Given the description of an element on the screen output the (x, y) to click on. 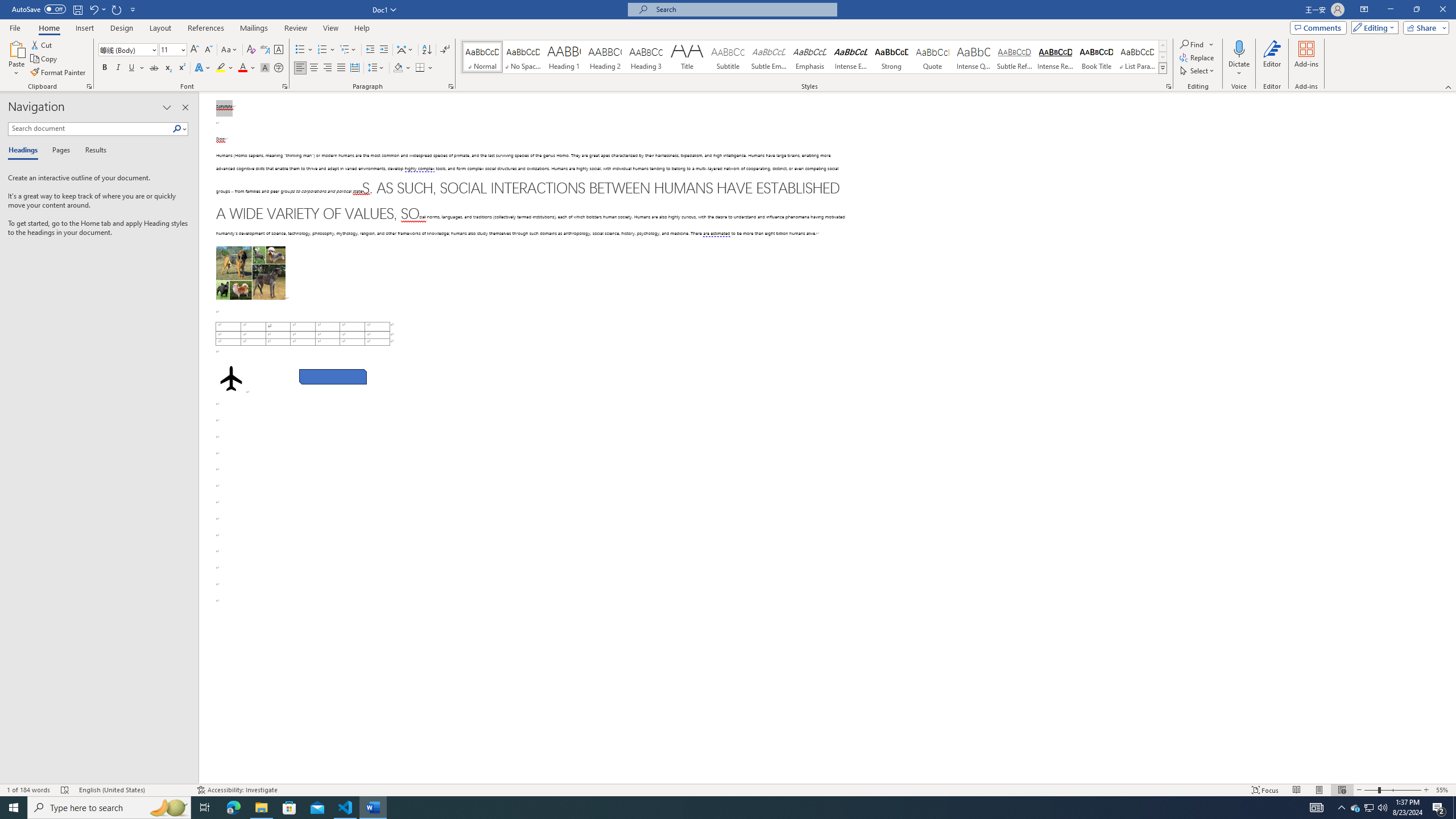
Rectangle: Diagonal Corners Snipped 2 (332, 376)
Styles (1162, 67)
Restore Down (1416, 9)
Intense Reference (1055, 56)
Shading RGB(0, 0, 0) (397, 67)
Undo Apply Quick Style (96, 9)
Repeat Style (117, 9)
Save (77, 9)
Emphasis (809, 56)
Intense Emphasis (849, 56)
Language English (United States) (132, 790)
Align Left (300, 67)
Quick Access Toolbar (74, 9)
